Given the description of an element on the screen output the (x, y) to click on. 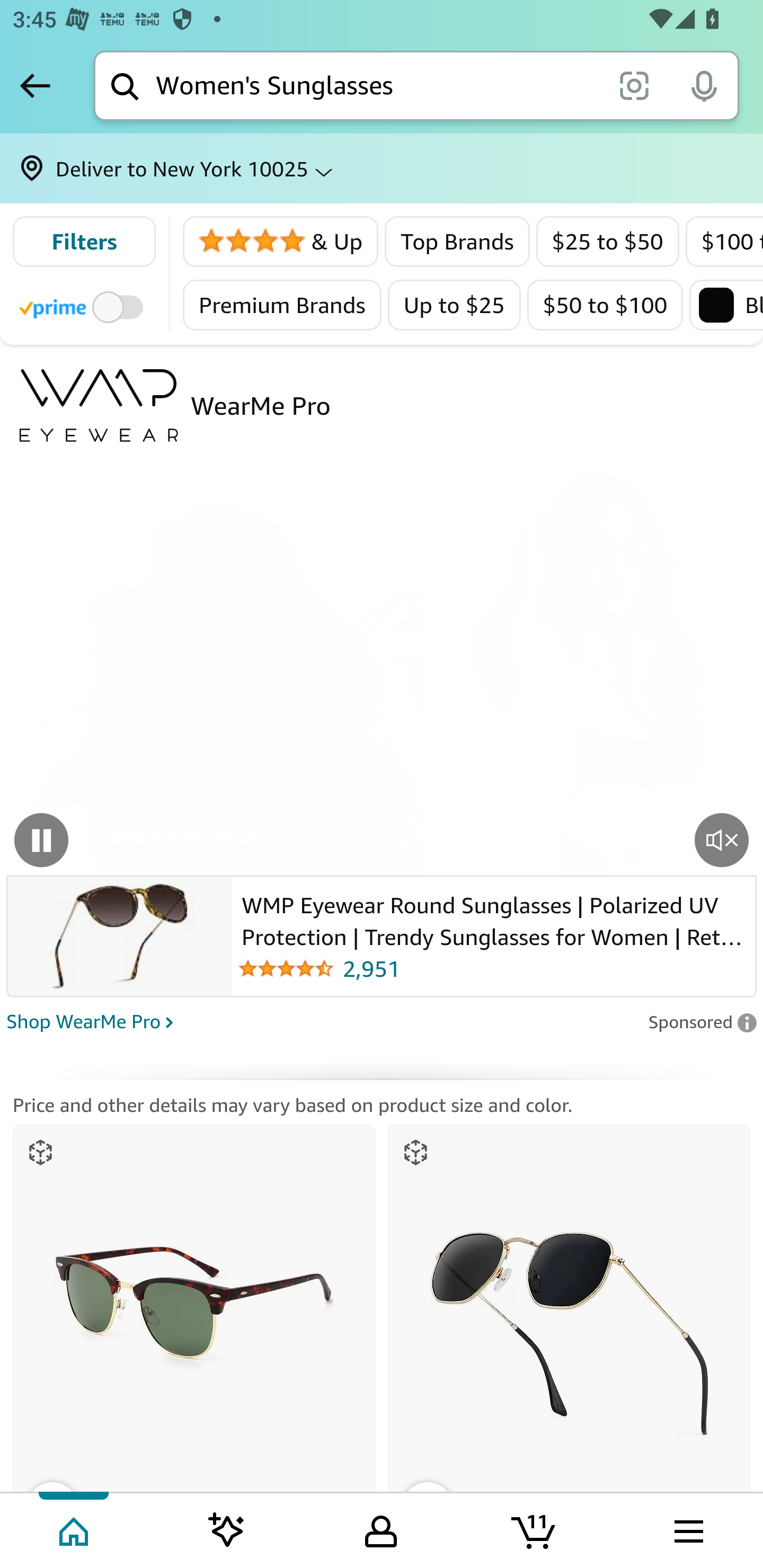
Back (35, 85)
scan it (633, 85)
Deliver to New York 10025 ⌵ (381, 168)
Filters (83, 241)
4 Stars & Up (281, 241)
Top Brands (457, 241)
$25 to $50 (607, 241)
$100 to $200 (724, 241)
Toggle to filter by Prime products Prime Eligible (83, 306)
Premium Brands (282, 304)
Up to $25 (453, 304)
$50 to $100 (604, 304)
Black Black Black Black (725, 304)
WearMe Pro (260, 404)
